Given the description of an element on the screen output the (x, y) to click on. 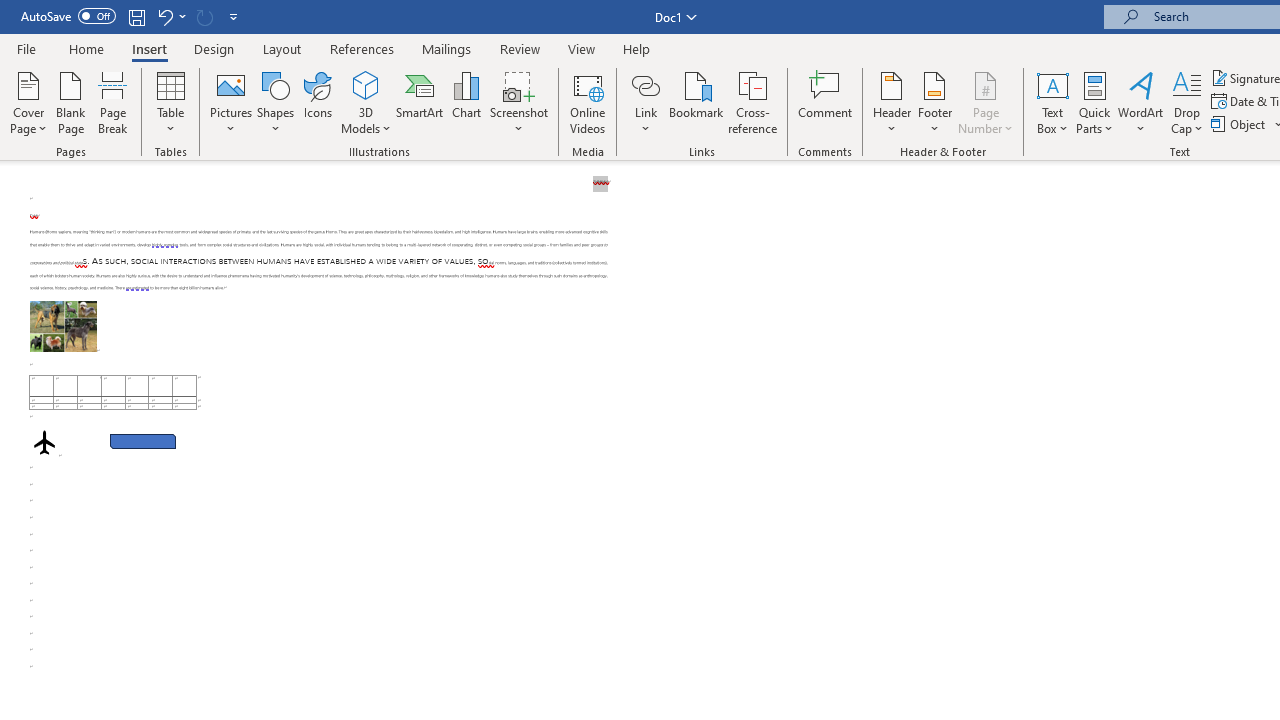
Comment (825, 102)
SmartArt... (419, 102)
Chart... (466, 102)
Cross-reference... (752, 102)
Screenshot (518, 102)
Morphological variation in six dogs (63, 326)
Pictures (230, 102)
Table (170, 102)
Shapes (275, 102)
Drop Cap (1187, 102)
